Given the description of an element on the screen output the (x, y) to click on. 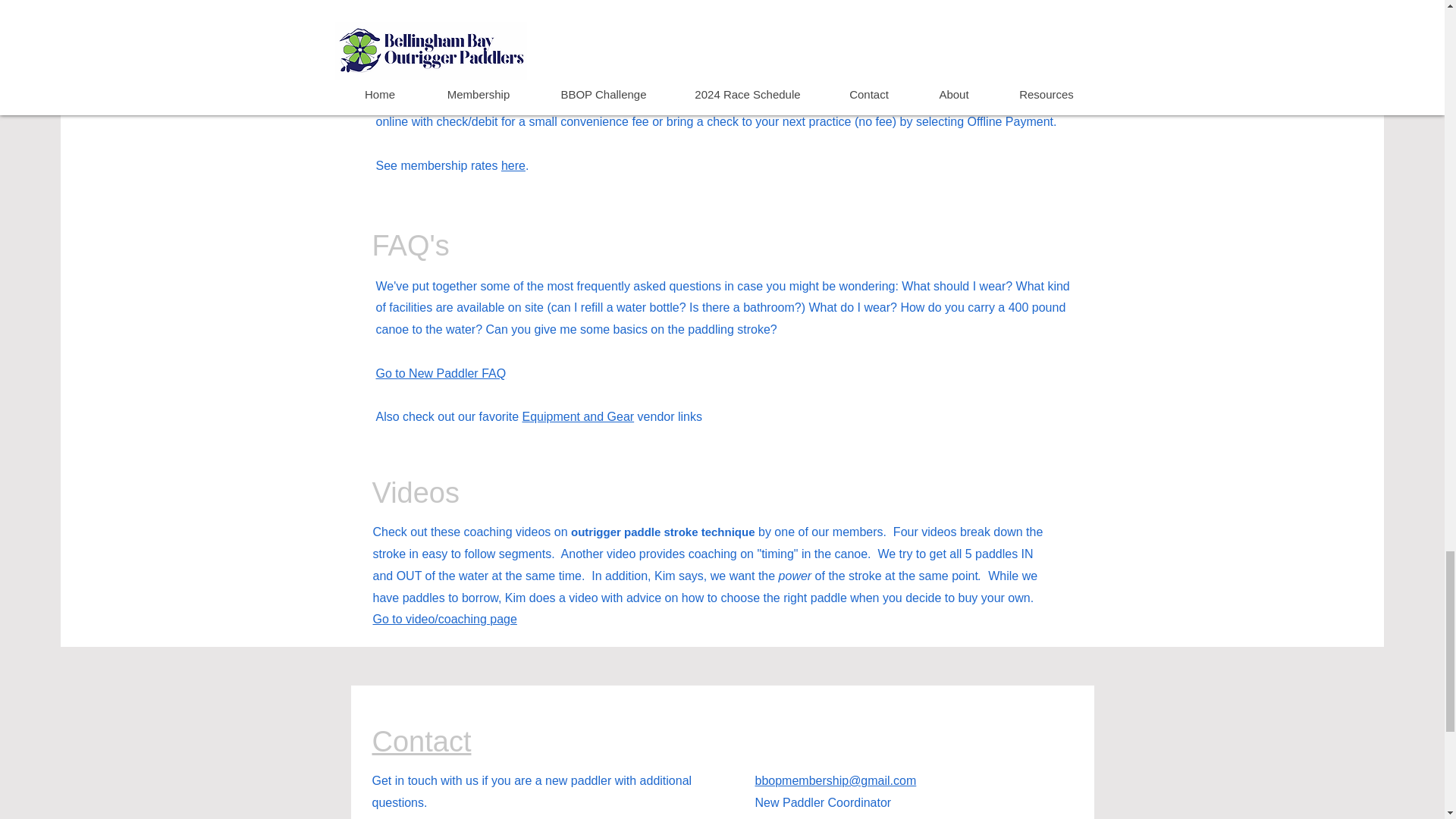
Equipment and Gear (577, 416)
Go to New Paddler FAQ (440, 373)
membership (453, 99)
Contact (420, 741)
here (512, 164)
